Given the description of an element on the screen output the (x, y) to click on. 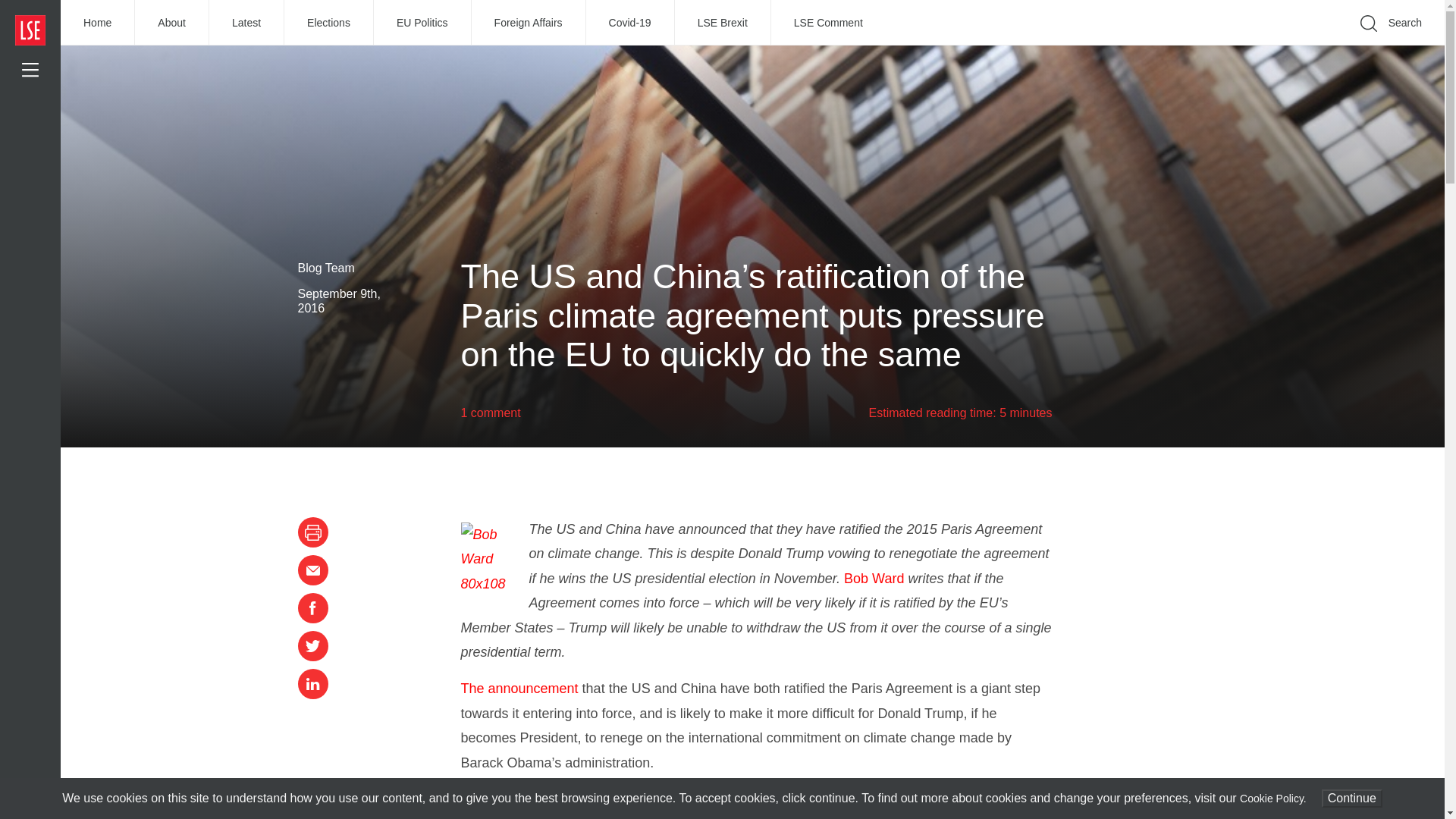
About (172, 22)
Covid-19 (630, 22)
has claimed during the course of the election campaign (689, 798)
Bob Ward (874, 578)
LSE Brexit (723, 22)
Elections (328, 22)
Go (1190, 44)
Foreign Affairs (528, 22)
Home (98, 22)
1 comment (491, 412)
